Given the description of an element on the screen output the (x, y) to click on. 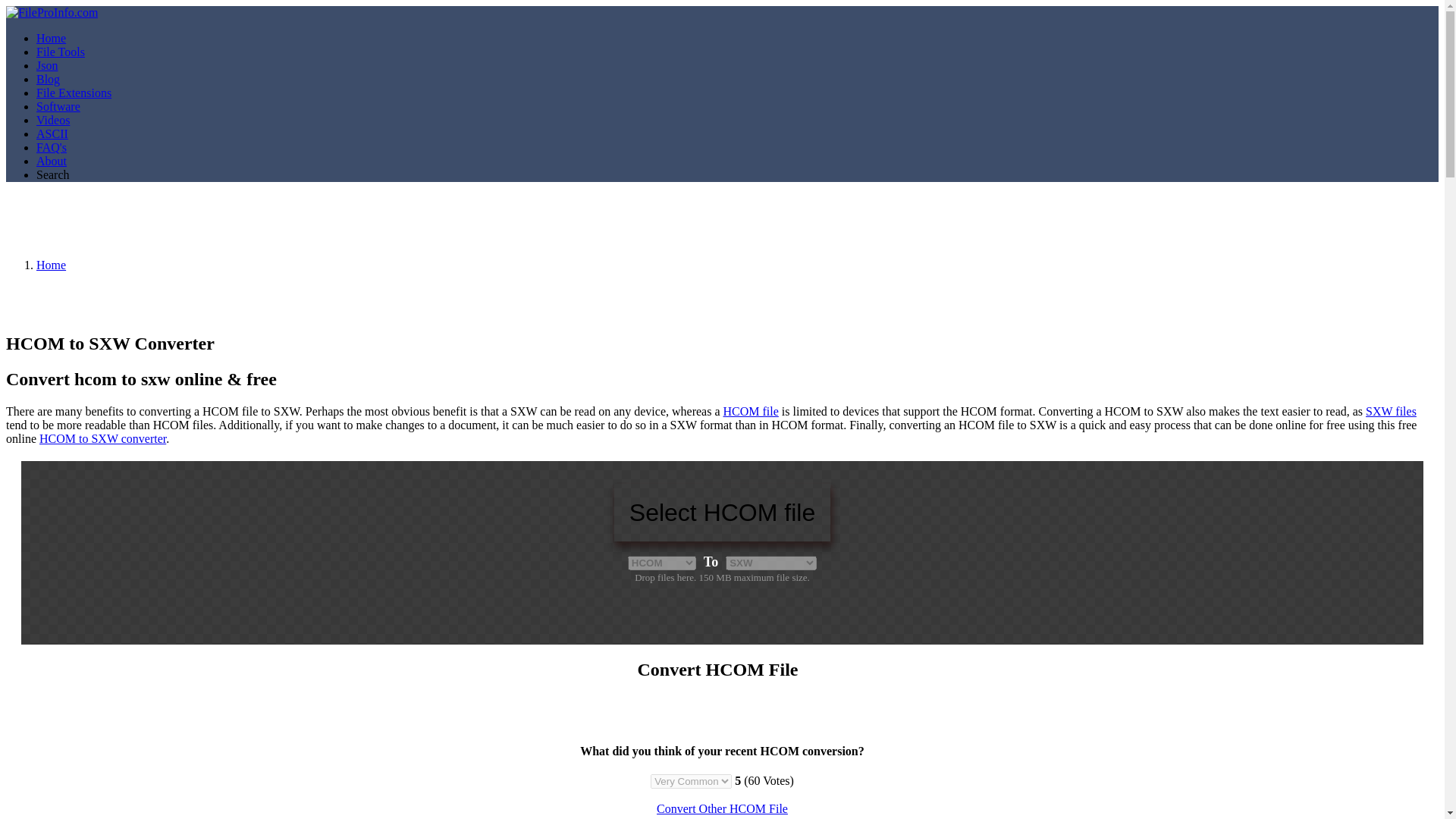
Home (50, 38)
FileProInfo.com (51, 11)
Home (50, 38)
About (51, 160)
Video tutorials (52, 119)
Videos (52, 119)
Free online Json tools (47, 65)
HCOM to SXW converter (102, 438)
ASCII (52, 133)
Blog (47, 78)
